Given the description of an element on the screen output the (x, y) to click on. 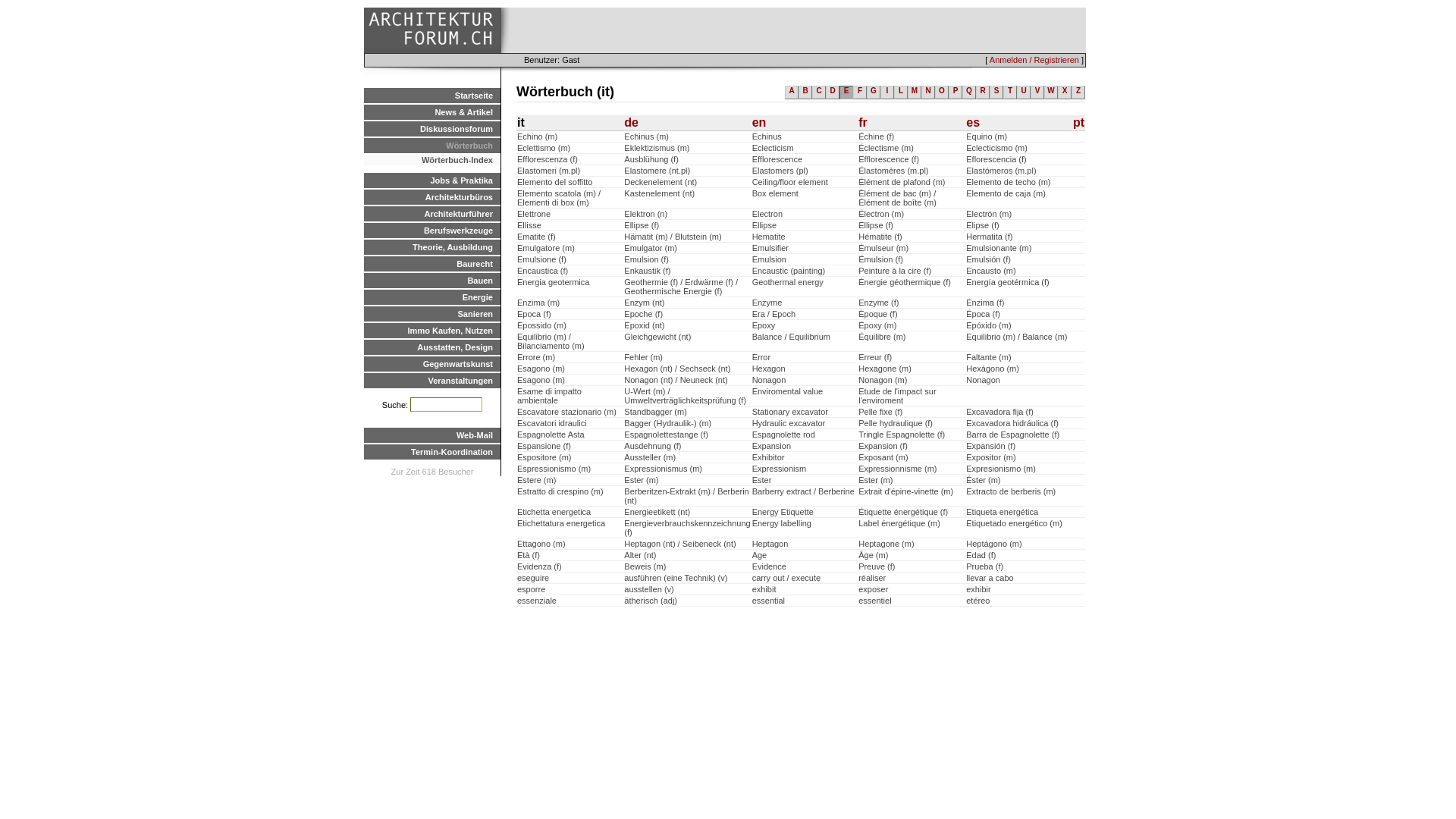
Ellipse (f) Element type: text (875, 224)
Ester (m) Element type: text (875, 479)
Tringle Espagnolette (f) Element type: text (901, 434)
Era / Epoch Element type: text (773, 313)
Emulsione (f) Element type: text (541, 258)
N Element type: text (928, 92)
B Element type: text (805, 92)
Ceiling/floor element Element type: text (790, 181)
D Element type: text (832, 92)
Errore (m) Element type: text (536, 356)
Sanieren Element type: text (432, 313)
Elemento del soffitto Element type: text (554, 181)
Equino (m) Element type: text (986, 136)
carry out / execute Element type: text (786, 577)
eseguire Element type: text (533, 577)
Pelle hydraulique (f) Element type: text (895, 422)
Ausstatten, Design Element type: text (432, 346)
Epoxy Element type: text (763, 324)
Enzyme Element type: text (767, 302)
Heptagon Element type: text (770, 543)
Espositore (m) Element type: text (544, 456)
E Element type: text (846, 92)
Aussteller (m) Element type: text (649, 456)
Expressionism Element type: text (779, 468)
Termin-Koordination Element type: text (432, 451)
ausstellen (v) Element type: text (648, 588)
Equilibrio (m) / Balance (m) Element type: text (1016, 336)
Elastomeri (m.pl) Element type: text (548, 170)
R Element type: text (982, 92)
I Element type: text (887, 92)
Standbagger (m) Element type: text (655, 411)
Efflorescenza (f) Element type: text (547, 158)
Espansione (f) Element type: text (544, 445)
llevar a cabo Element type: text (989, 577)
F Element type: text (859, 92)
pt Element type: text (1078, 122)
Theorie, Ausbildung Element type: text (432, 246)
Espagnolette rod Element type: text (783, 434)
Bauen Element type: text (432, 280)
Eklektizismus (m) Element type: text (656, 147)
es Element type: text (972, 122)
Excavadora fija (f) Element type: text (999, 411)
Etude de l'impact sur l'enviroment Element type: text (896, 395)
Equilibrio (m) / Bilanciamento (m) Element type: text (550, 341)
Gleichgewicht (nt) Element type: text (657, 336)
Box element Element type: text (775, 192)
Estere (m) Element type: text (536, 479)
Exposant (m) Element type: text (882, 456)
essential Element type: text (768, 600)
Energy labelling Element type: text (781, 522)
Enzima (f) Element type: text (985, 302)
Emulsion (f) Element type: text (646, 258)
Epossido (m) Element type: text (541, 324)
Erreur (f) Element type: text (874, 356)
P Element type: text (955, 92)
Eclettismo (m) Element type: text (543, 147)
Faltante (m) Element type: text (988, 356)
Expansion (f) Element type: text (882, 445)
Extracto de berberis (m) Element type: text (1010, 490)
M Element type: text (914, 92)
Geothermal energy Element type: text (787, 281)
Q Element type: text (968, 92)
Espagnolettestange (f) Element type: text (666, 434)
Web-Mail Element type: text (432, 434)
Ettagono (m) Element type: text (541, 543)
exhibit Element type: text (764, 588)
Energia geotermica Element type: text (553, 281)
Barberry extract / Berberine Element type: text (803, 490)
fr Element type: text (862, 122)
Espagnolette Asta Element type: text (550, 434)
Esagono (m) Element type: text (540, 368)
Ester (m) Element type: text (641, 479)
Z Element type: text (1078, 92)
Startseite Element type: text (432, 95)
Beweis (m) Element type: text (644, 566)
Expositor (m) Element type: text (990, 456)
Alter (nt) Element type: text (639, 554)
Pelle fixe (f) Element type: text (880, 411)
L Element type: text (900, 92)
Bagger (Hydraulik-) (m) Element type: text (667, 422)
Ellisse Element type: text (529, 224)
Eflorescencia (f) Element type: text (996, 158)
Encaustic (painting) Element type: text (788, 270)
Esame di impatto ambientale Element type: text (549, 395)
exposer Element type: text (873, 588)
Energy Etiquette Element type: text (782, 511)
Epoca (f) Element type: text (534, 313)
essenziale Element type: text (536, 600)
Expressionismus (m) Element type: text (663, 468)
Ellipse Element type: text (764, 224)
Edad (f) Element type: text (980, 554)
Diskussionsforum Element type: text (432, 128)
Elemento de techo (m) Element type: text (1008, 181)
Gegenwartskunst Element type: text (432, 363)
essentiel Element type: text (874, 600)
Nonagon (nt) / Neuneck (nt) Element type: text (675, 379)
Emulsifier Element type: text (770, 247)
Nonagon Element type: text (769, 379)
Elettrone Element type: text (533, 213)
Berufswerkzeuge Element type: text (432, 230)
V Element type: text (1037, 92)
Elastomere (nt.pl) Element type: text (657, 170)
Berberitzen-Extrakt (m) / Berberin (nt) Element type: text (686, 495)
Anmelden / Registrieren Element type: text (1034, 59)
C Element type: text (818, 92)
exhibir Element type: text (978, 588)
X Element type: text (1064, 92)
Nonagon (m) Element type: text (882, 379)
Etichettatura energetica Element type: text (561, 522)
Enviromental value Element type: text (787, 390)
de Element type: text (631, 122)
Fehler (m) Element type: text (643, 356)
Efflorescence Element type: text (777, 158)
Energie Element type: text (432, 296)
Veranstaltungen Element type: text (432, 380)
Encausto (m) Element type: text (990, 270)
Elipse (f) Element type: text (982, 224)
Eclecticism Element type: text (772, 147)
Emulsion Element type: text (769, 258)
Expansion Element type: text (771, 445)
en Element type: text (759, 122)
Hexagone (m) Element type: text (884, 368)
Emulgatore (m) Element type: text (545, 247)
Hematite Element type: text (768, 236)
Escavatori idraulici Element type: text (551, 422)
Elemento de caja (m) Element type: text (1005, 192)
esporre Element type: text (531, 588)
Baurecht Element type: text (432, 263)
Jobs & Praktika Element type: text (432, 180)
Espressionismo (m) Element type: text (553, 468)
Echino (m) Element type: text (537, 136)
Energieverbrauchskennzeichnung (f) Element type: text (686, 527)
Enzym (nt) Element type: text (644, 302)
Escavatore stazionario (m) Element type: text (566, 411)
Age Element type: text (759, 554)
Nonagon Element type: text (983, 379)
Energieetikett (nt) Element type: text (657, 511)
O Element type: text (941, 92)
S Element type: text (996, 92)
T Element type: text (1009, 92)
Echinus (m) Element type: text (646, 136)
Efflorescence (f) Element type: text (888, 158)
Ester Element type: text (761, 479)
Barra de Espagnolette (f) Element type: text (1012, 434)
Preuve (f) Element type: text (876, 566)
Heptagone (m) Element type: text (885, 543)
Hydraulic excavator Element type: text (788, 422)
Exhibitor Element type: text (768, 456)
A Element type: text (791, 92)
News & Artikel Element type: text (432, 111)
Ausdehnung (f) Element type: text (652, 445)
Enzyme (f) Element type: text (878, 302)
Elektron (n) Element type: text (645, 213)
Balance / Equilibrium Element type: text (791, 336)
Evidenza (f) Element type: text (539, 566)
Epoxid (nt) Element type: text (644, 324)
Elemento scatola (m) / Elementi di box (m) Element type: text (558, 197)
G Element type: text (873, 92)
Estratto di crespino (m) Element type: text (560, 490)
Deckenelement (nt) Element type: text (660, 181)
Prueba (f) Element type: text (984, 566)
Epoche (f) Element type: text (643, 313)
Encaustica (f) Element type: text (542, 270)
W Element type: text (1050, 92)
Echinus Element type: text (766, 136)
Stationary excavator Element type: text (790, 411)
U Element type: text (1023, 92)
Ellipse (f) Element type: text (641, 224)
Enkaustik (f) Element type: text (647, 270)
Ematite (f) Element type: text (536, 236)
Evidence Element type: text (769, 566)
Emulsionante (m) Element type: text (998, 247)
Immo Kaufen, Nutzen Element type: text (432, 330)
Heptagon (nt) / Seibeneck (nt) Element type: text (679, 543)
Kastenelement (nt) Element type: text (659, 192)
Hermatita (f) Element type: text (989, 236)
Eclecticismo (m) Element type: text (996, 147)
Error Element type: text (761, 356)
Hexagon (nt) / Sechseck (nt) Element type: text (677, 368)
Etichetta energetica Element type: text (553, 511)
Electron Element type: text (767, 213)
Expressionnisme (m) Element type: text (897, 468)
Elastomers (pl) Element type: text (780, 170)
Esagono (m) Element type: text (540, 379)
Emulgator (m) Element type: text (650, 247)
Expresionismo (m) Element type: text (1000, 468)
Hexagon Element type: text (768, 368)
Enzima (m) Element type: text (538, 302)
